Given the description of an element on the screen output the (x, y) to click on. 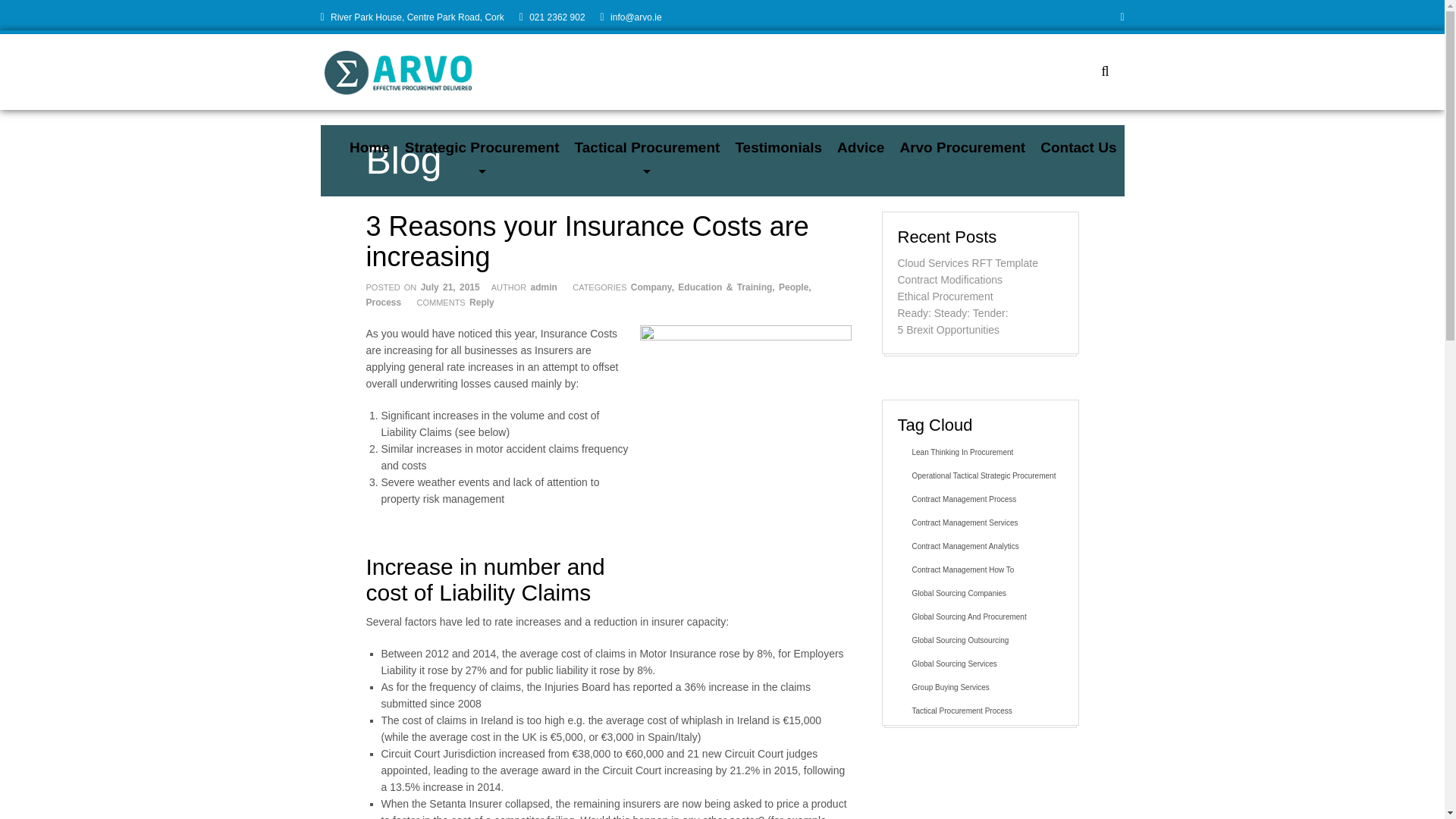
Tactical Procurement (647, 147)
View all posts by this author (544, 286)
Process (383, 302)
July 21, 2015 (450, 286)
Contact Us (1078, 147)
Ready: Steady: Tender: (953, 313)
Company (650, 286)
Contract Modifications (950, 279)
Reply (481, 302)
Arvo Procurement (961, 147)
10:16 am (450, 286)
People (793, 286)
admin (544, 286)
Ethical Procurement (945, 296)
Strategic Procurement (482, 147)
